Given the description of an element on the screen output the (x, y) to click on. 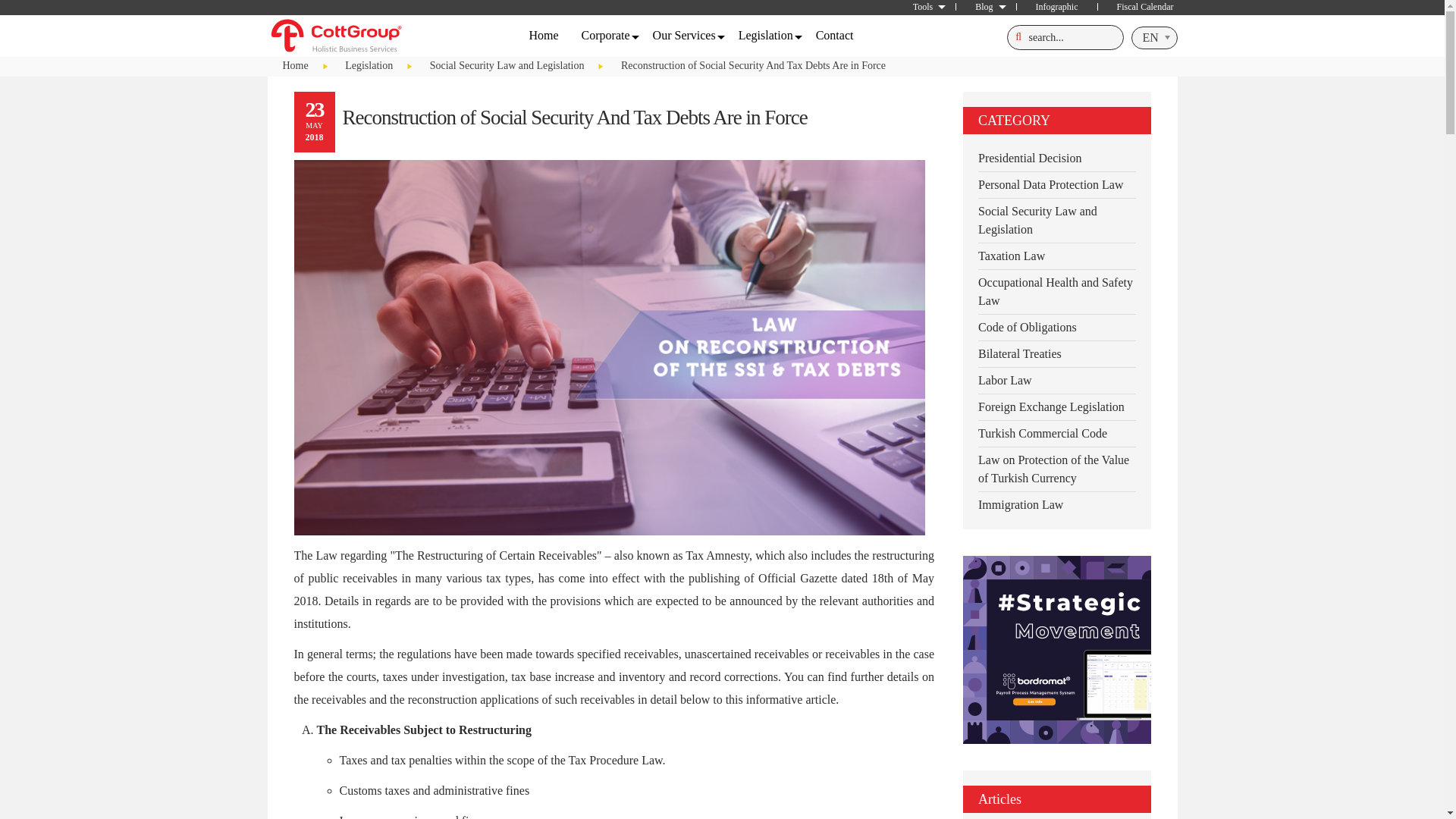
Legislation (765, 35)
Home (542, 35)
Blog (985, 6)
corporate (606, 35)
Fiscal Calendar (1141, 6)
Fiscal Calendar (1141, 6)
Our Services (684, 35)
Blog (985, 6)
Tools (925, 6)
Corporate (606, 35)
